Given the description of an element on the screen output the (x, y) to click on. 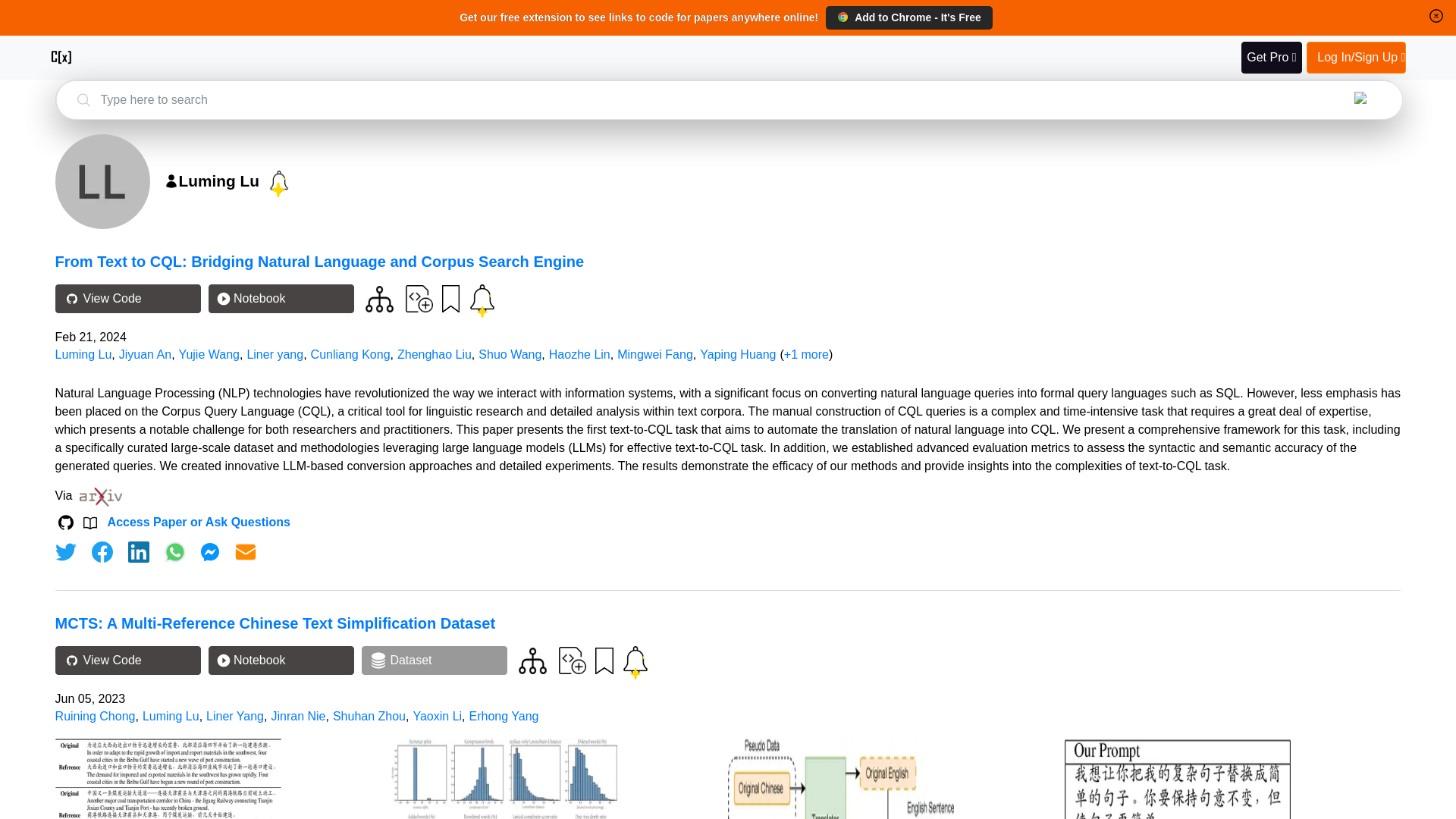
Cunliang Kong (350, 354)
View Code (127, 660)
Shuo Wang (510, 354)
Luming Lu (83, 354)
Zhenghao Liu (434, 354)
View code for similar papers (532, 660)
Contribute your code for this paper to the community (419, 298)
Jiyuan An (145, 354)
Yujie Wang (209, 354)
Haozhe Lin (579, 354)
Add to Chrome - It's Free (908, 17)
Access Paper or Ask Questions (198, 522)
Yaping Huang (738, 354)
View code for similar papers (379, 298)
